Given the description of an element on the screen output the (x, y) to click on. 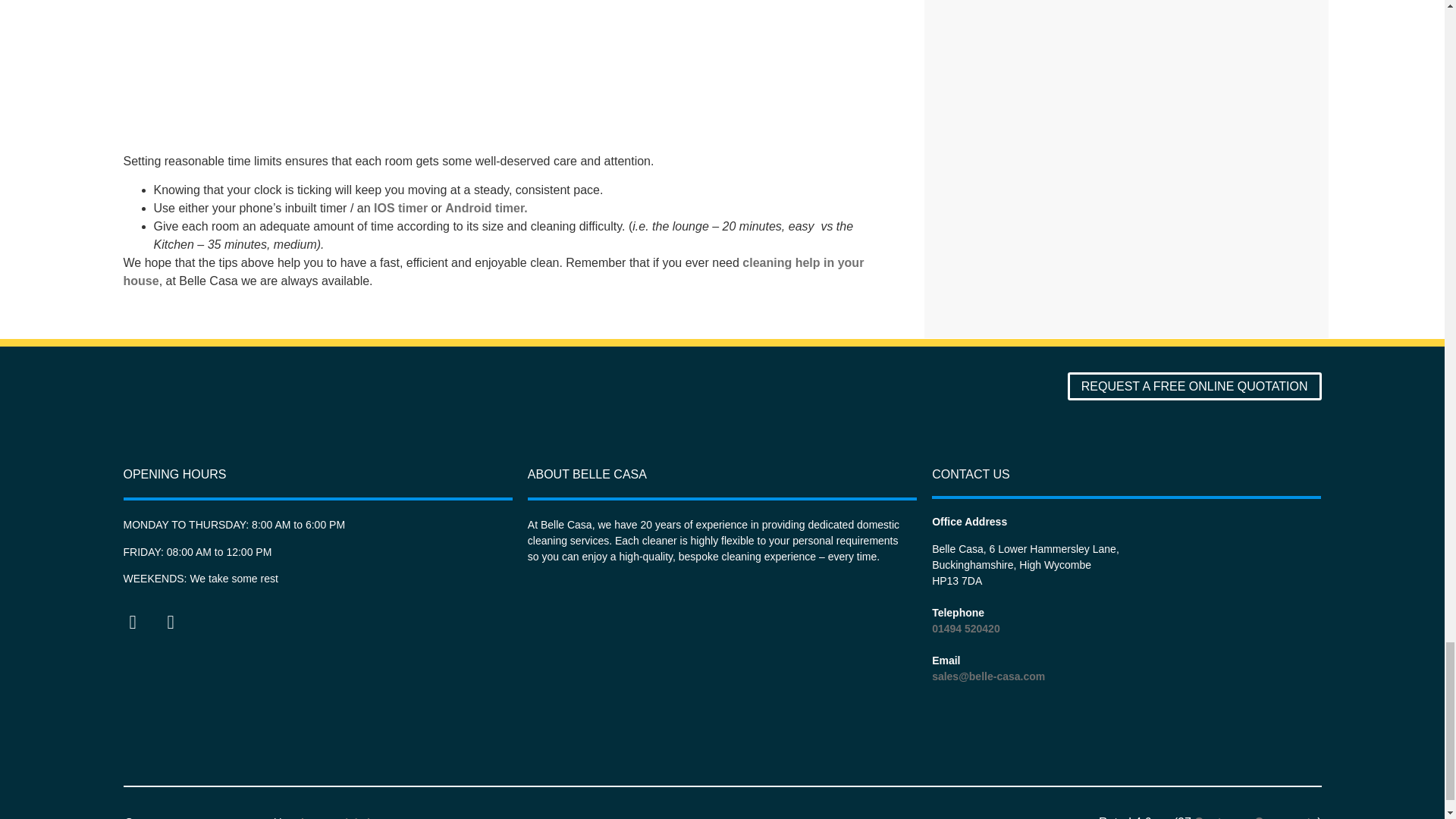
Android timer. (486, 207)
IOS timer (401, 207)
cleaning help in your house (492, 271)
Google Reviews (1255, 817)
